Given the description of an element on the screen output the (x, y) to click on. 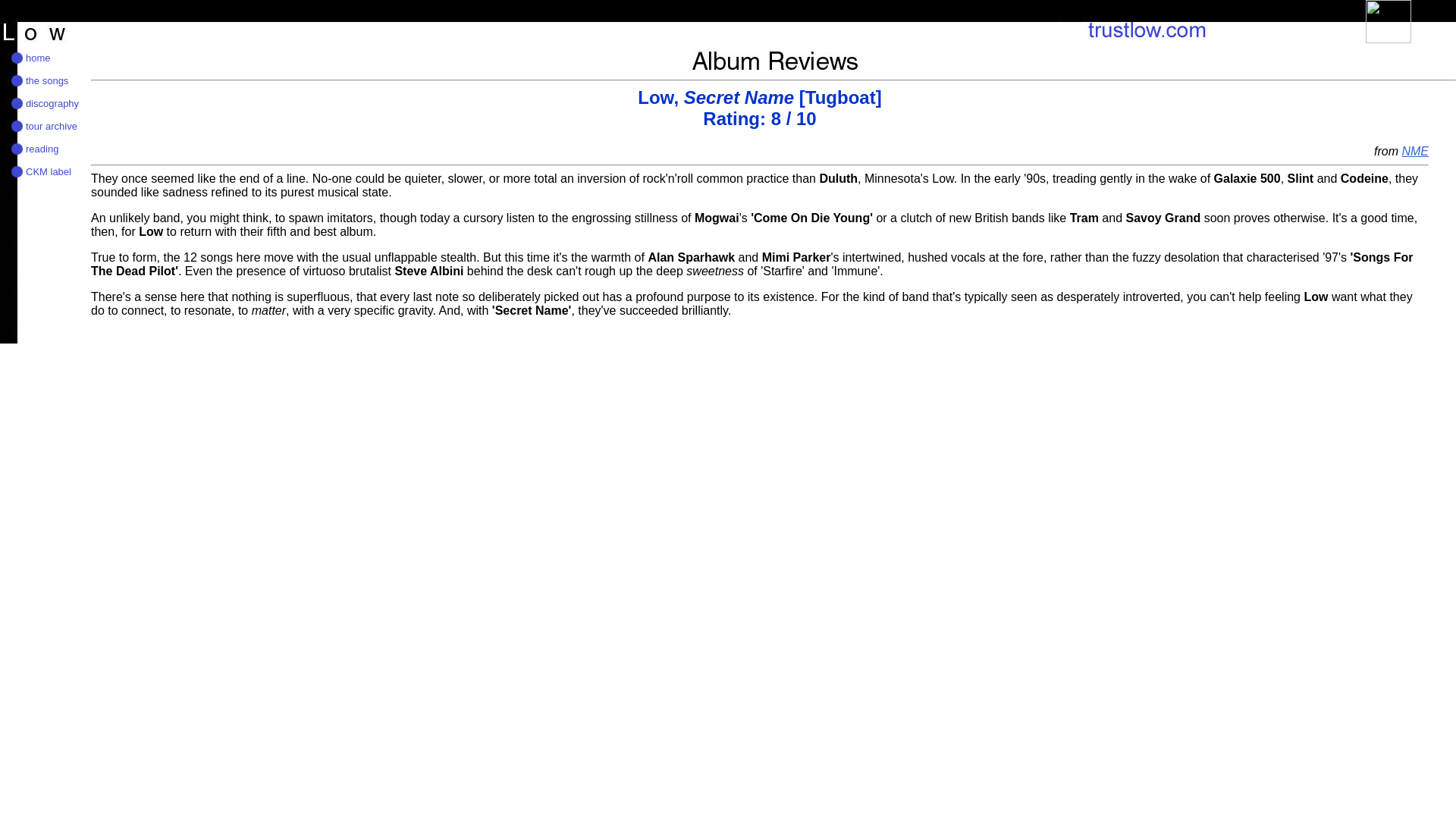
tour archive (51, 125)
home (38, 57)
CKM label (48, 170)
the songs (47, 79)
NME (1414, 151)
reading (42, 147)
discography (52, 102)
